Given the description of an element on the screen output the (x, y) to click on. 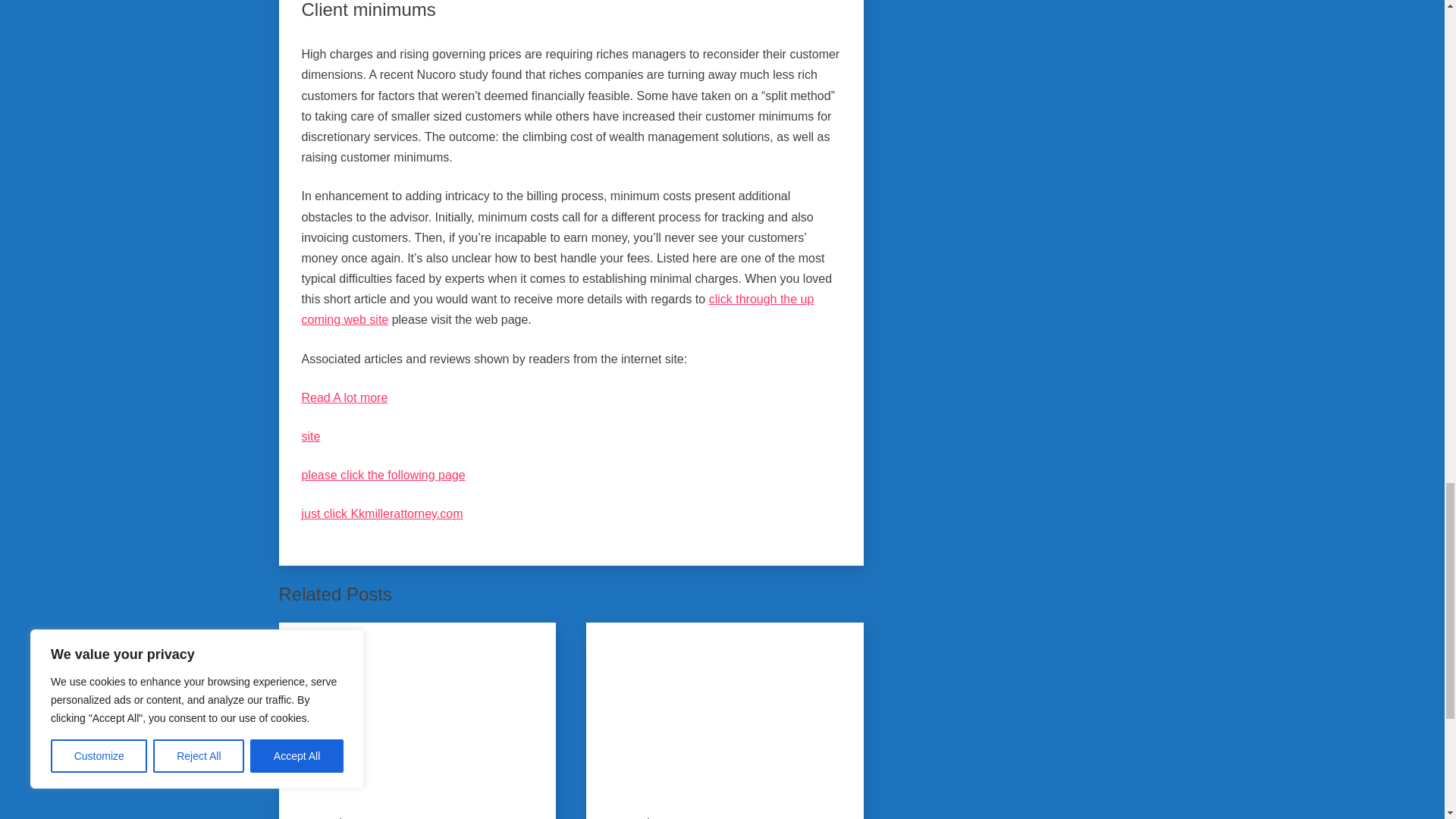
site (310, 436)
click through the up coming web site (557, 308)
just click Kkmillerattorney.com (382, 513)
Read A lot more (344, 397)
General (321, 816)
please click the following page (383, 474)
